Given the description of an element on the screen output the (x, y) to click on. 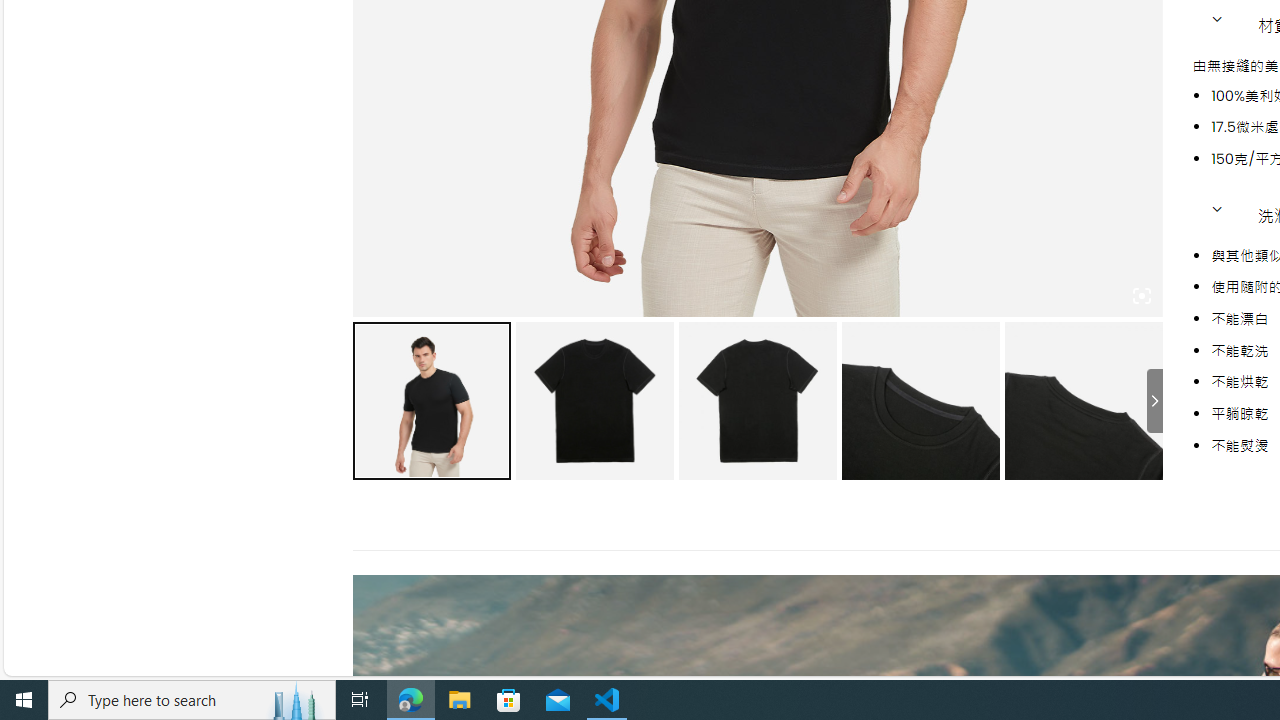
Class: iconic-woothumbs-fullscreen (1140, 296)
